Given the description of an element on the screen output the (x, y) to click on. 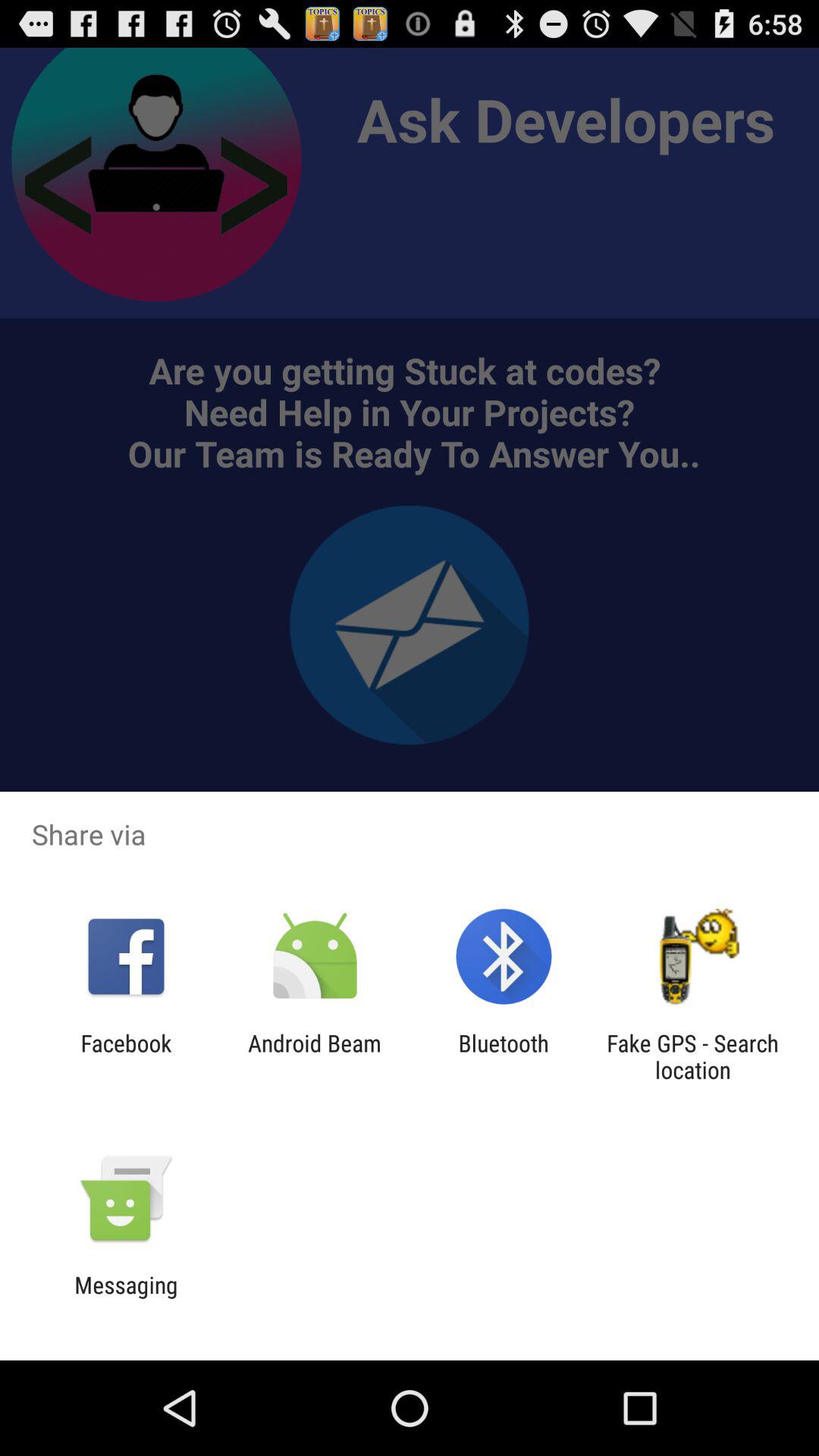
click app at the bottom right corner (692, 1056)
